Given the description of an element on the screen output the (x, y) to click on. 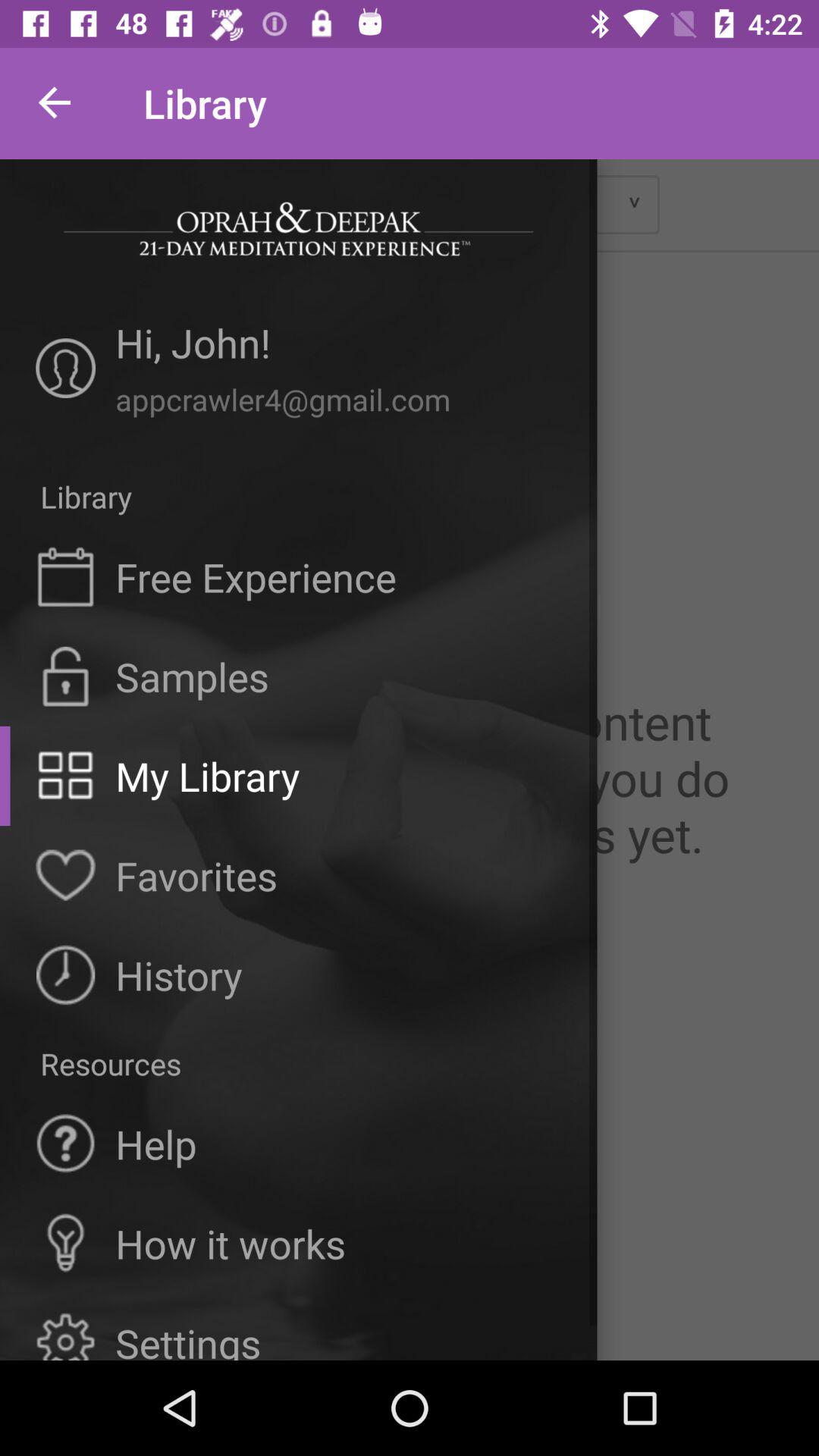
click appcrawler4@gmail.com item (338, 399)
